Given the description of an element on the screen output the (x, y) to click on. 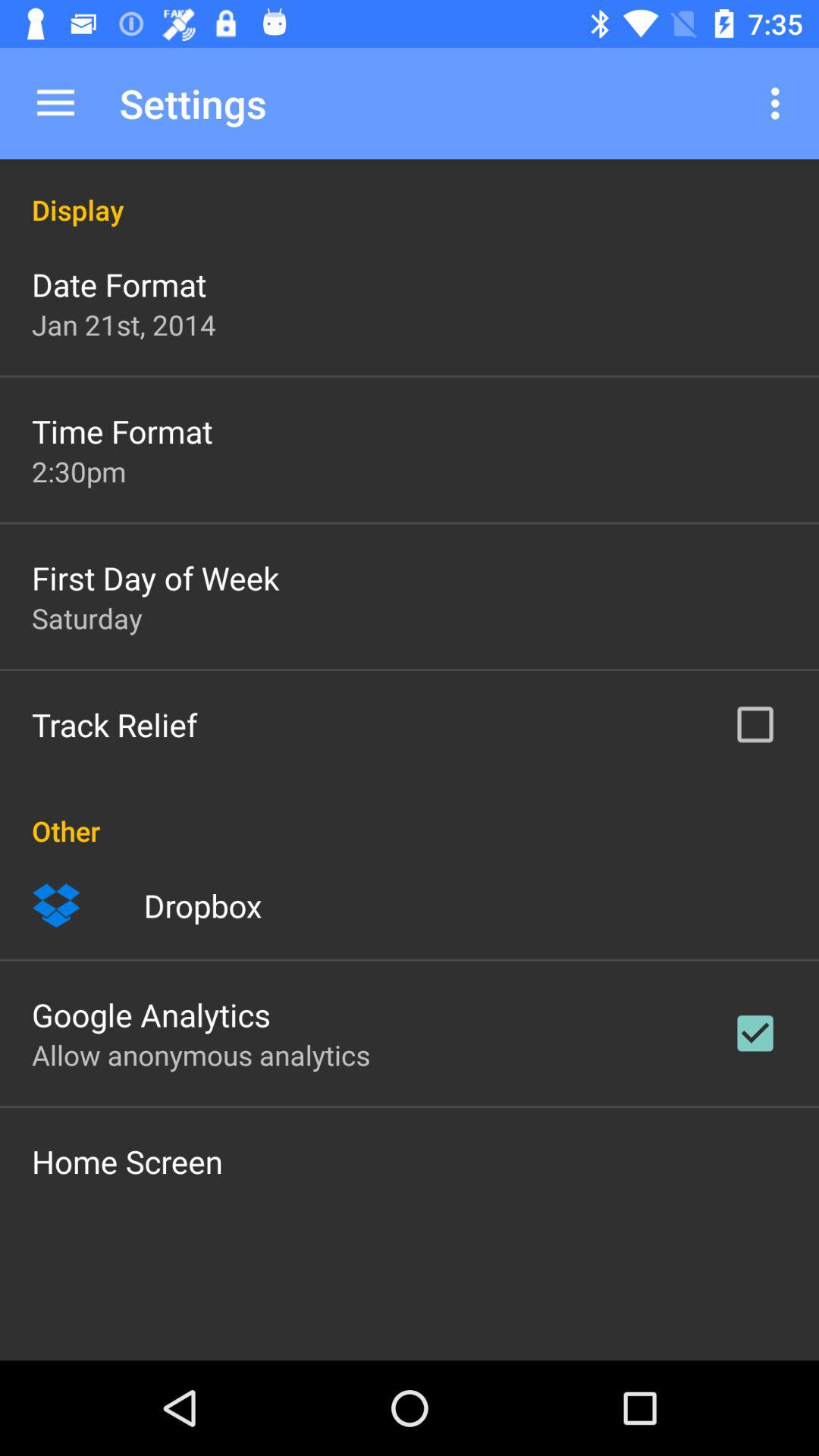
click the icon above display (55, 103)
